Given the description of an element on the screen output the (x, y) to click on. 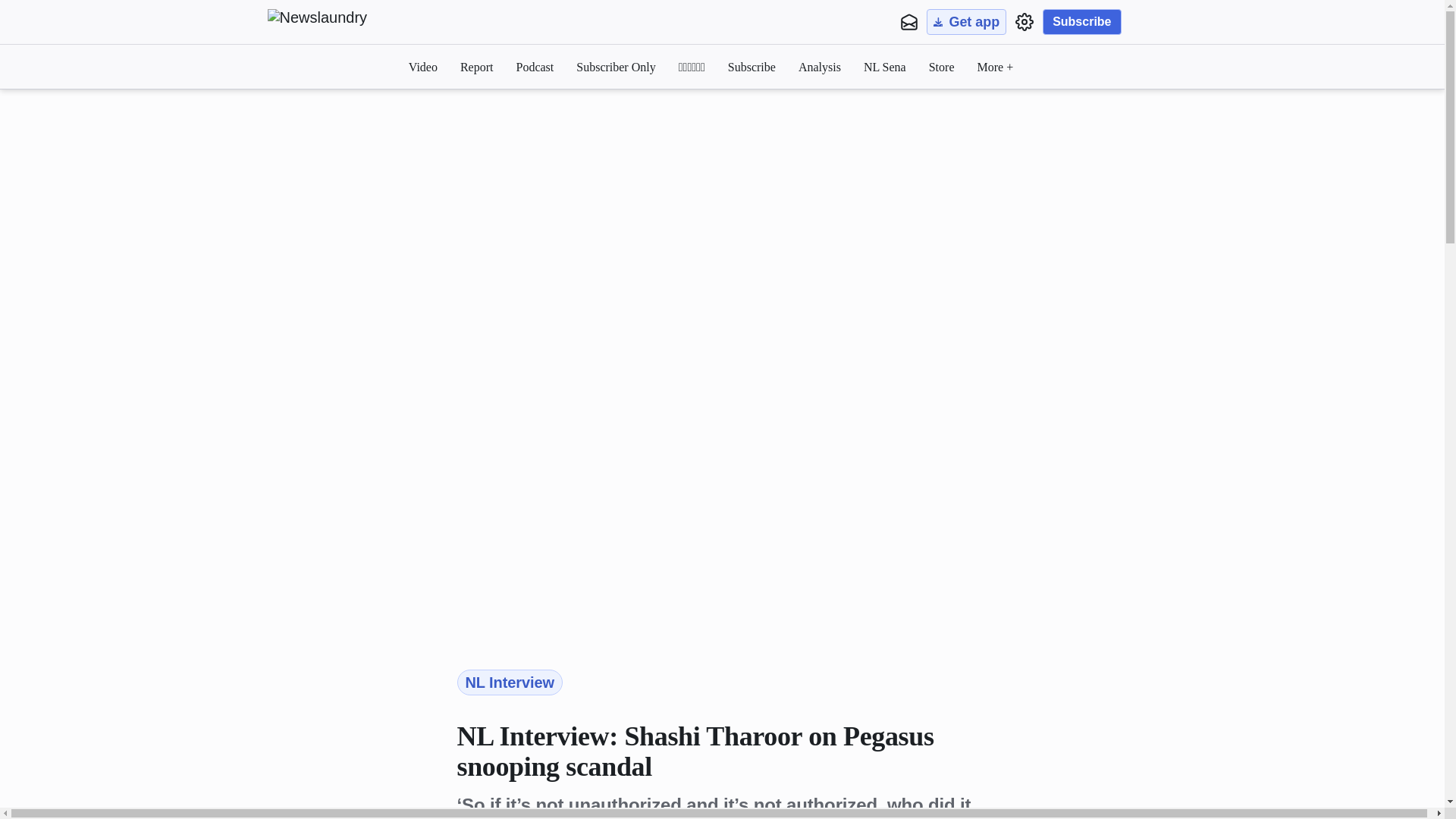
NL Sena (884, 66)
Subscribe (1081, 22)
Subscriber Only (615, 66)
More (994, 66)
Subscribe (752, 66)
Analysis (819, 66)
Get app (966, 22)
NL Interview (509, 682)
Report (476, 66)
Podcast (534, 66)
Video (423, 66)
Store (941, 66)
